Given the description of an element on the screen output the (x, y) to click on. 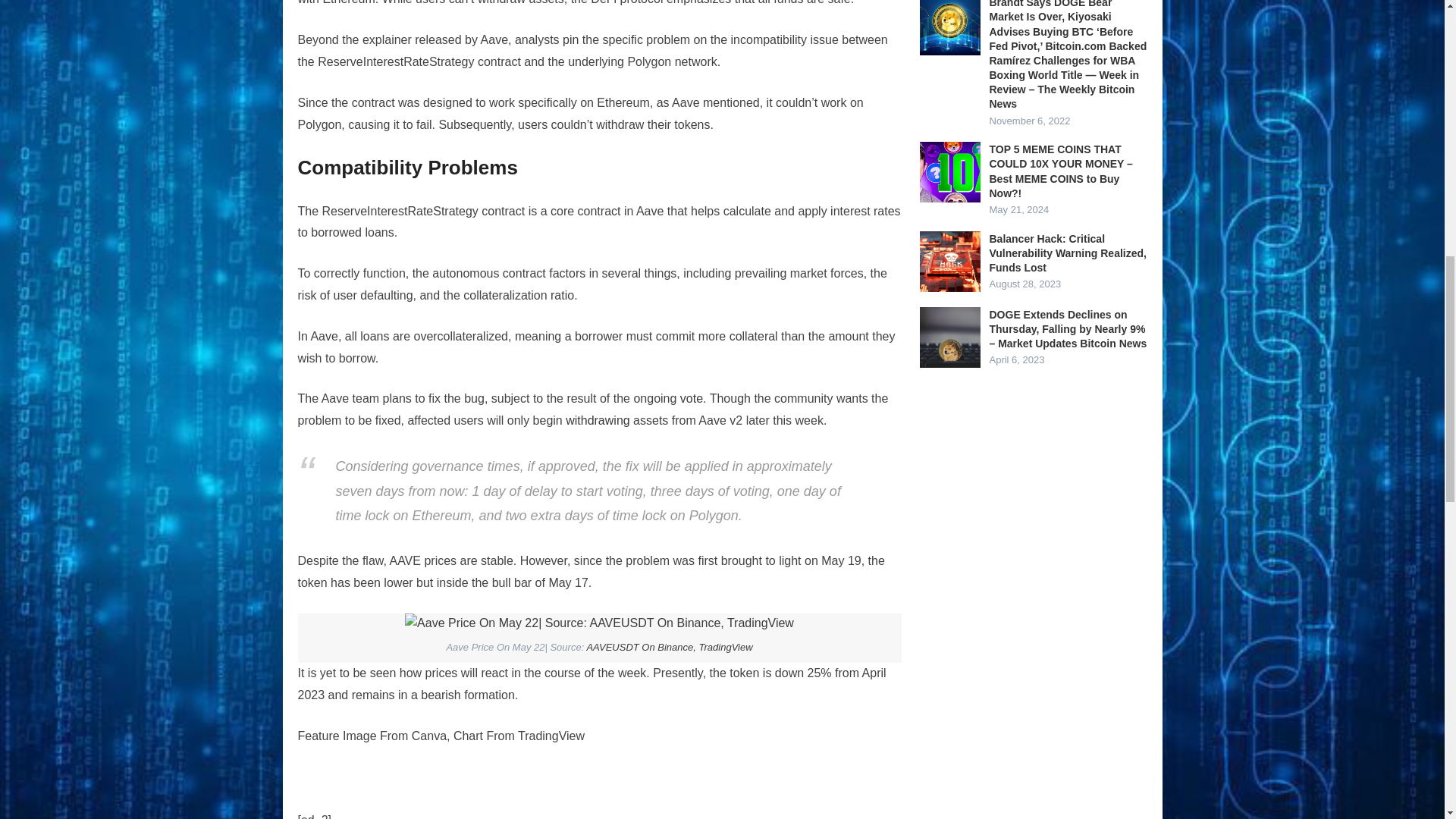
vote (691, 398)
withdrawing (597, 420)
pin (570, 39)
AAVEUSDT On Binance, TradingView (669, 646)
